Given the description of an element on the screen output the (x, y) to click on. 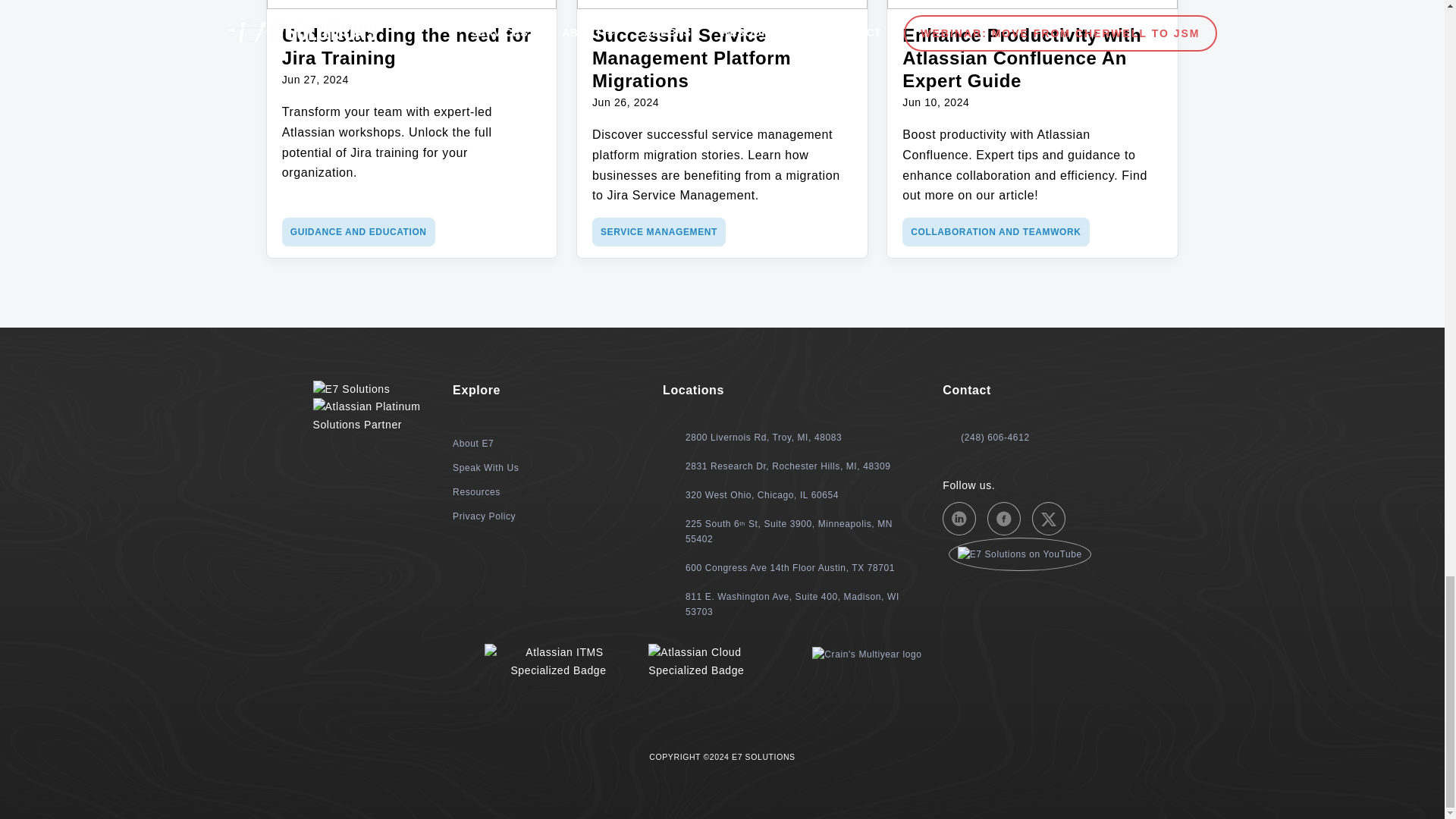
Atlassian Platinum Solutions Partner (371, 416)
Crain's Multiyear logo (866, 654)
E7 Solutions on LinkedIn (958, 518)
E7 Solutions on Twitter (1048, 518)
E7 Solutions (351, 389)
Atlassian ITMS Specialized Badge (557, 661)
E7 Solutions on YouTube (1019, 553)
Atlassian Cloud Specialized Badge (720, 661)
E7 Solutions on Facebook (1003, 518)
